Given the description of an element on the screen output the (x, y) to click on. 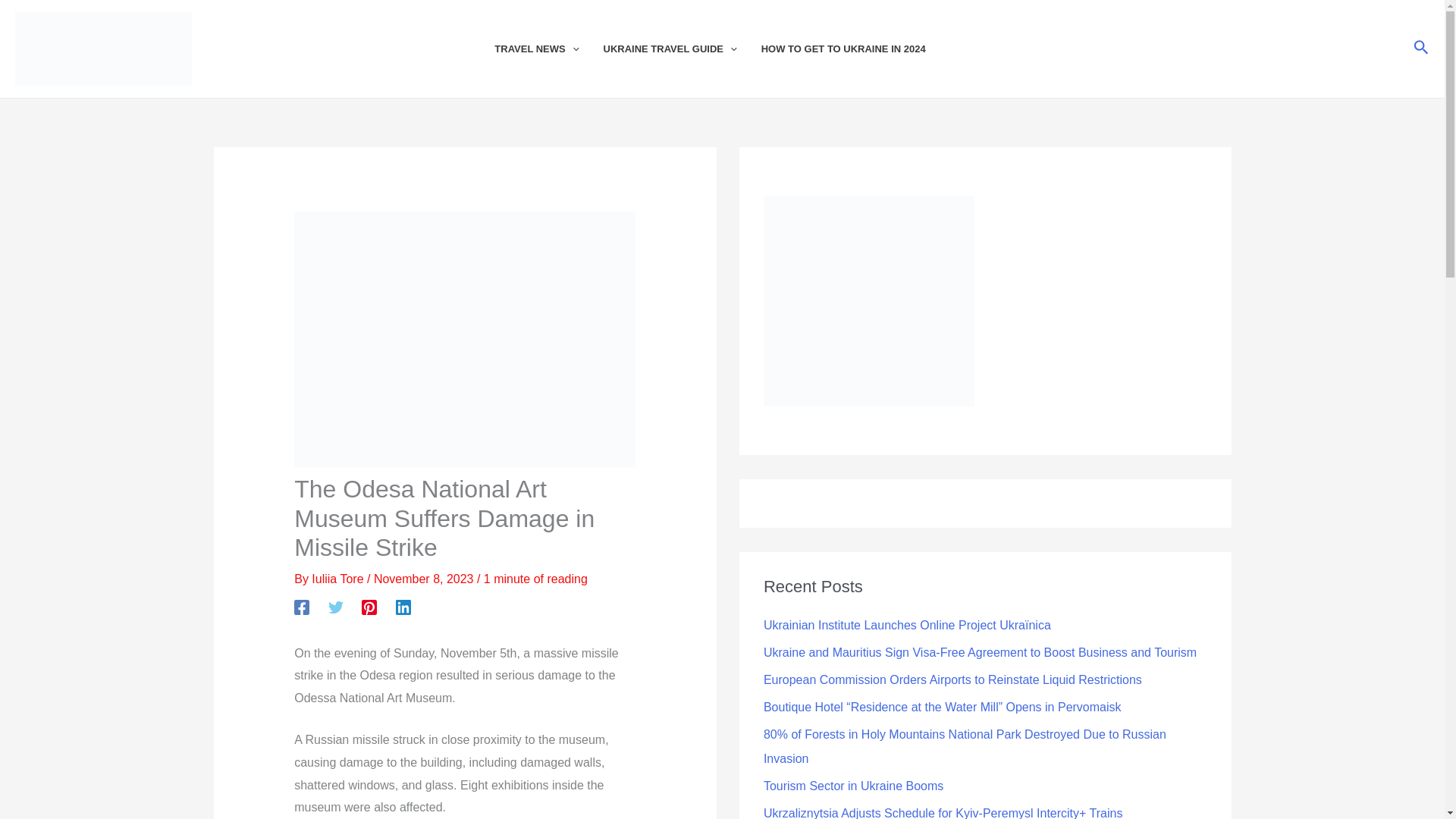
View all posts by Iuliia Tore (338, 578)
TRAVEL NEWS (548, 48)
UKRAINE TRAVEL GUIDE (682, 48)
Iuliia Tore (338, 578)
HOW TO GET TO UKRAINE IN 2024 (855, 48)
